Given the description of an element on the screen output the (x, y) to click on. 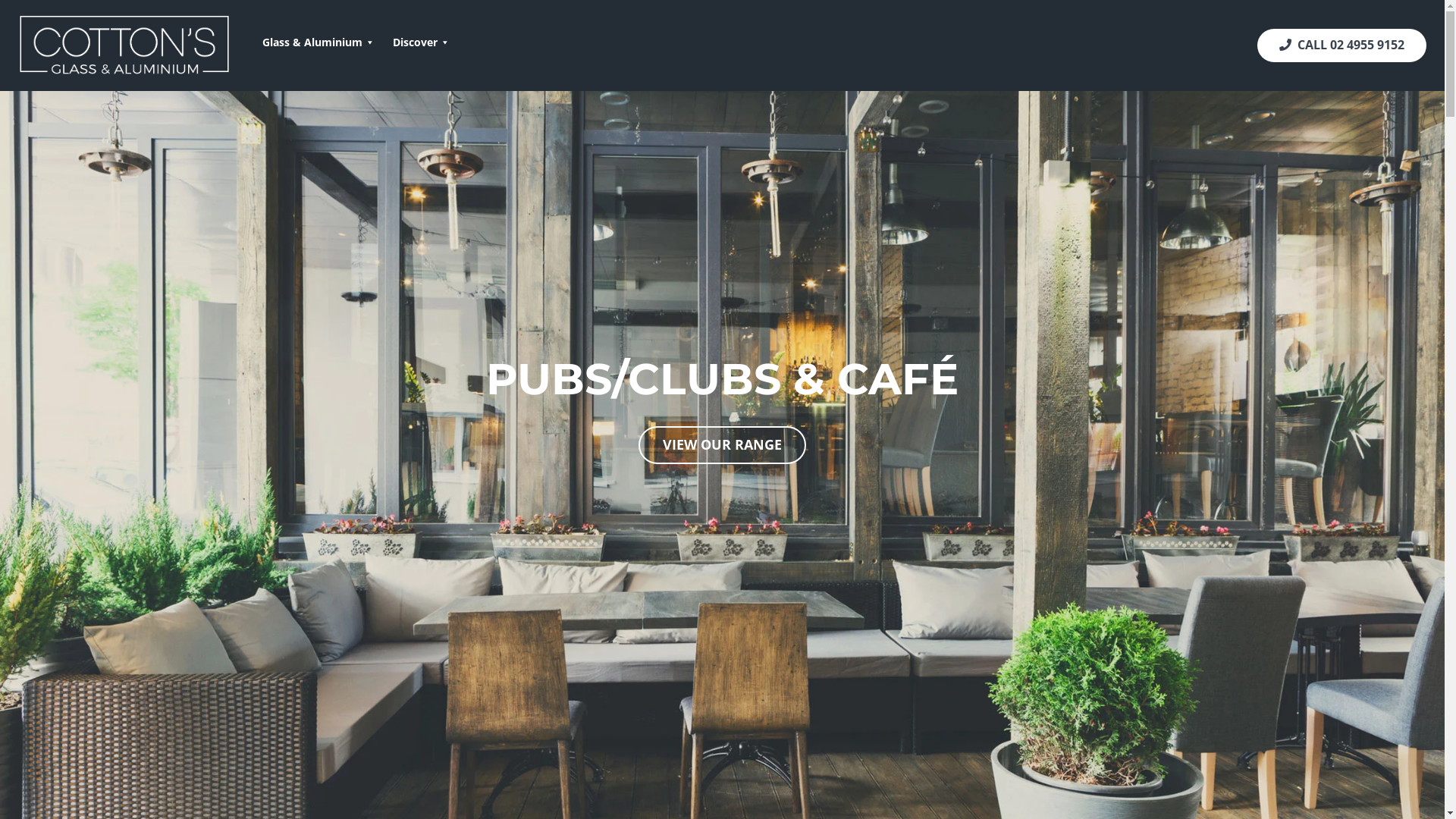
CALL 02 4955 9152 Element type: text (1341, 45)
VIEW OUR RANGE Element type: text (722, 445)
